Given the description of an element on the screen output the (x, y) to click on. 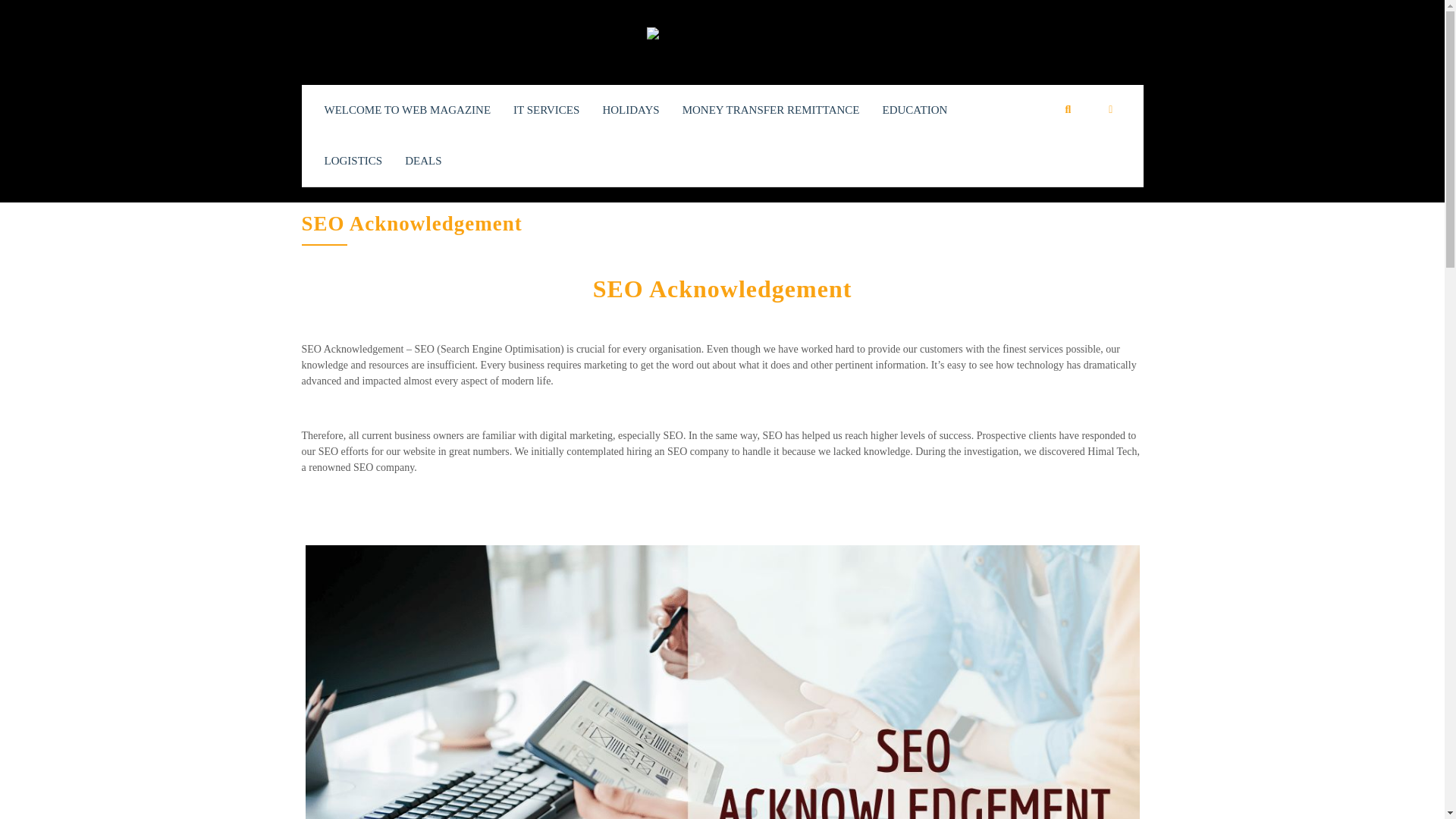
IT SERVICES (546, 110)
HOLIDAYS (630, 110)
MONEY TRANSFER REMITTANCE (771, 110)
EDUCATION (914, 110)
LOGISTICS (353, 160)
WELCOME TO WEB MAGAZINE (408, 110)
